Given the description of an element on the screen output the (x, y) to click on. 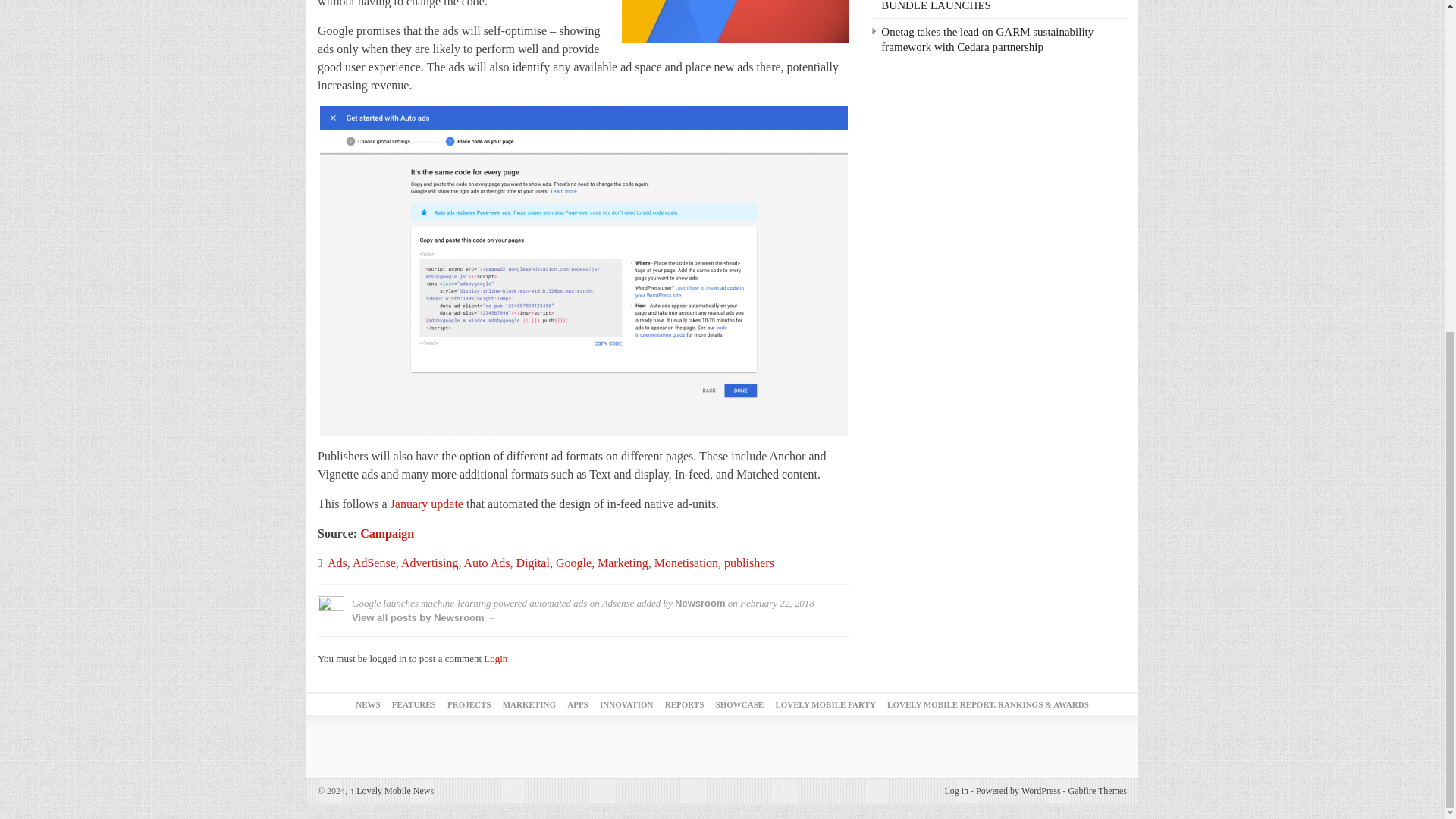
Ads (337, 562)
AdSense (374, 562)
Auto Ads (487, 562)
Digital (531, 562)
Advertising (429, 562)
Campaign (386, 533)
Lovely Mobile News (391, 790)
January update (426, 503)
